Given the description of an element on the screen output the (x, y) to click on. 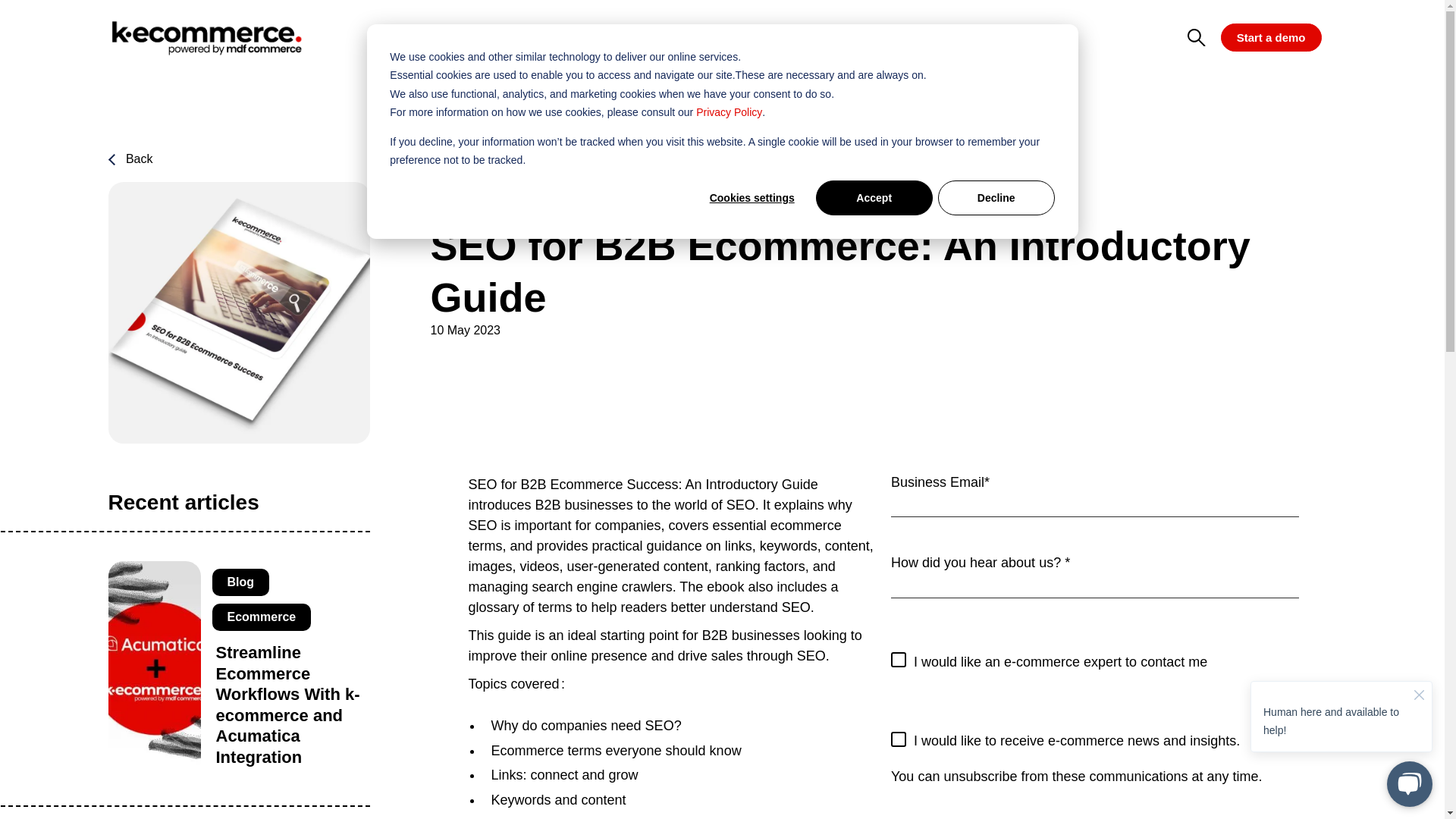
Partners (788, 37)
Solutions (562, 37)
Use cases (678, 37)
true (898, 659)
true (898, 739)
Use cases (678, 37)
Solutions (562, 37)
Search (1326, 12)
Search (1326, 12)
